Given the description of an element on the screen output the (x, y) to click on. 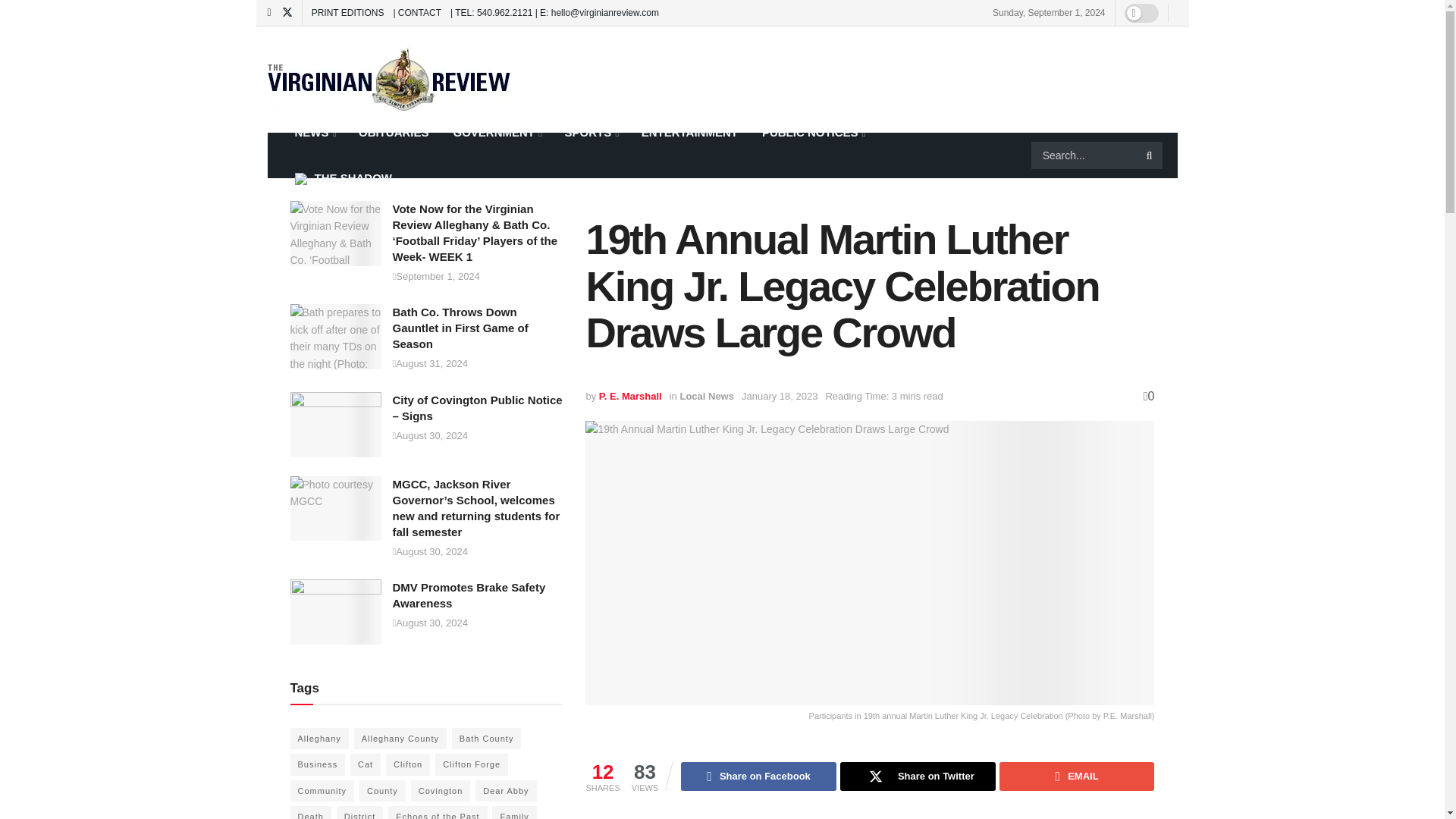
THE SHADOW (343, 177)
PRINT EDITIONS (347, 12)
ENTERTAINMENT (688, 132)
OBITUARIES (393, 132)
PUBLIC NOTICES (812, 132)
SPORTS (589, 132)
NEWS (314, 132)
GOVERNMENT (497, 132)
